Given the description of an element on the screen output the (x, y) to click on. 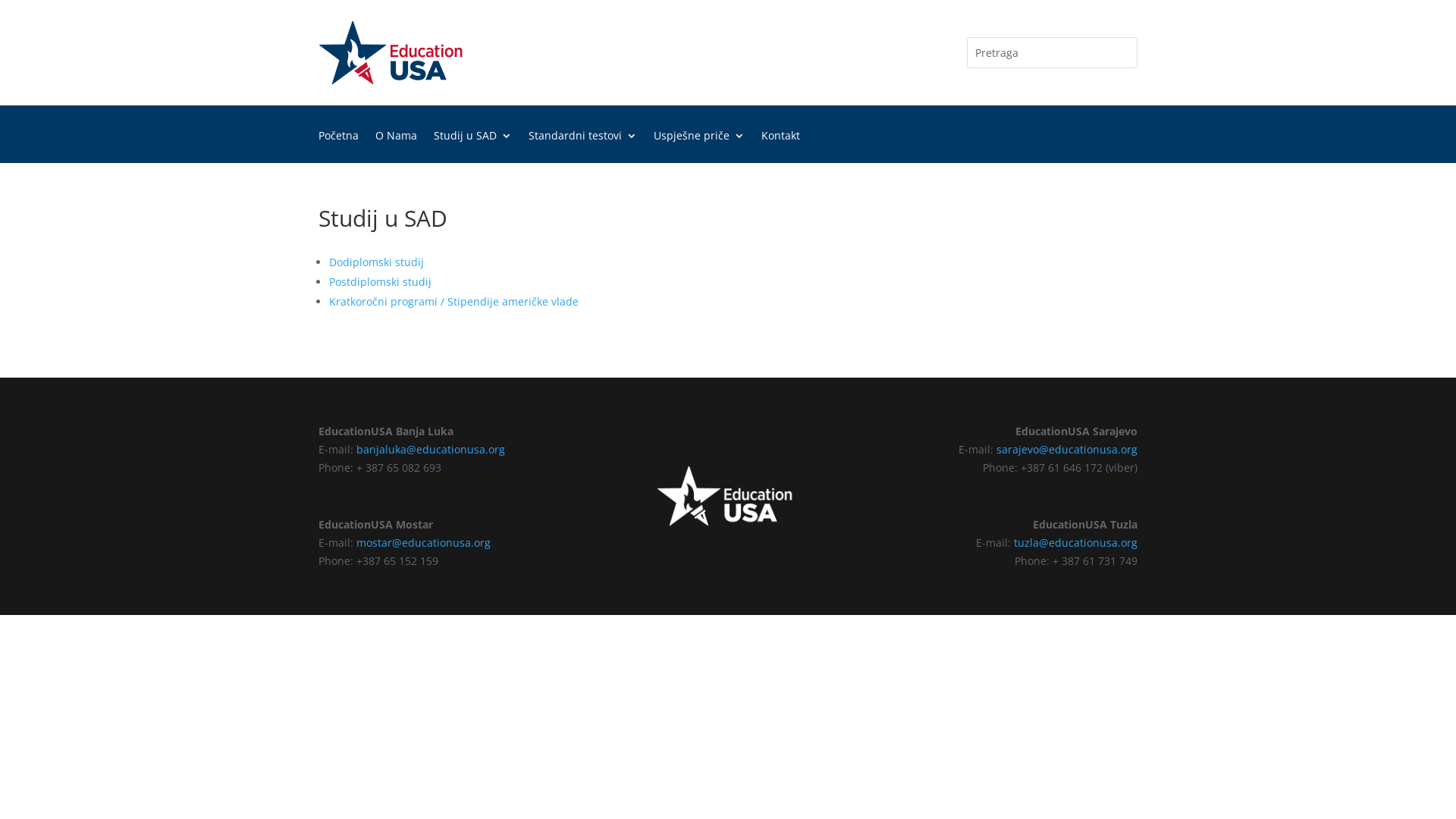
logo-white Element type: hover (727, 495)
mostar@educationusa.org Element type: text (423, 542)
Dodiplomski studij Element type: text (376, 261)
Kontakt Element type: text (780, 146)
sarajevo@educationusa.org Element type: text (1066, 449)
O Nama Element type: text (396, 146)
banjaluka@educationusa.org Element type: text (430, 449)
Postdiplomski studij Element type: text (380, 281)
Studij u SAD Element type: text (472, 146)
tuzla@educationusa.org Element type: text (1075, 542)
Standardni testovi Element type: text (582, 146)
Search Element type: text (25, 14)
